Given the description of an element on the screen output the (x, y) to click on. 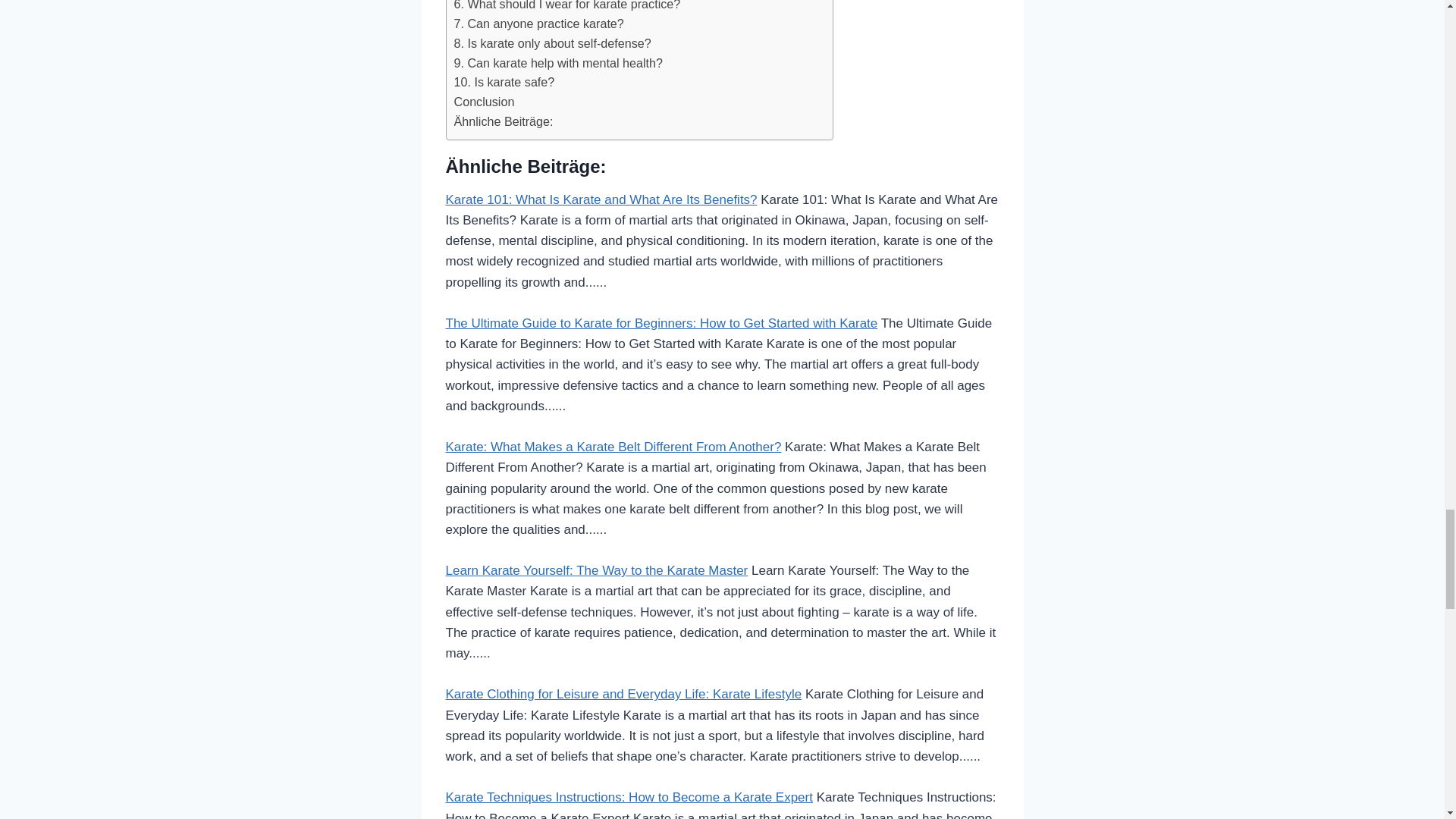
8. Is karate only about self-defense? (551, 44)
Karate: What Makes a Karate Belt Different From Another? (613, 446)
10. Is karate safe? (503, 82)
Learn Karate Yourself: The Way to the Karate Master (596, 570)
9. Can karate help with mental health? (557, 63)
10. Is karate safe? (503, 82)
6. What should I wear for karate practice? (565, 7)
8. Is karate only about self-defense? (551, 44)
